Given the description of an element on the screen output the (x, y) to click on. 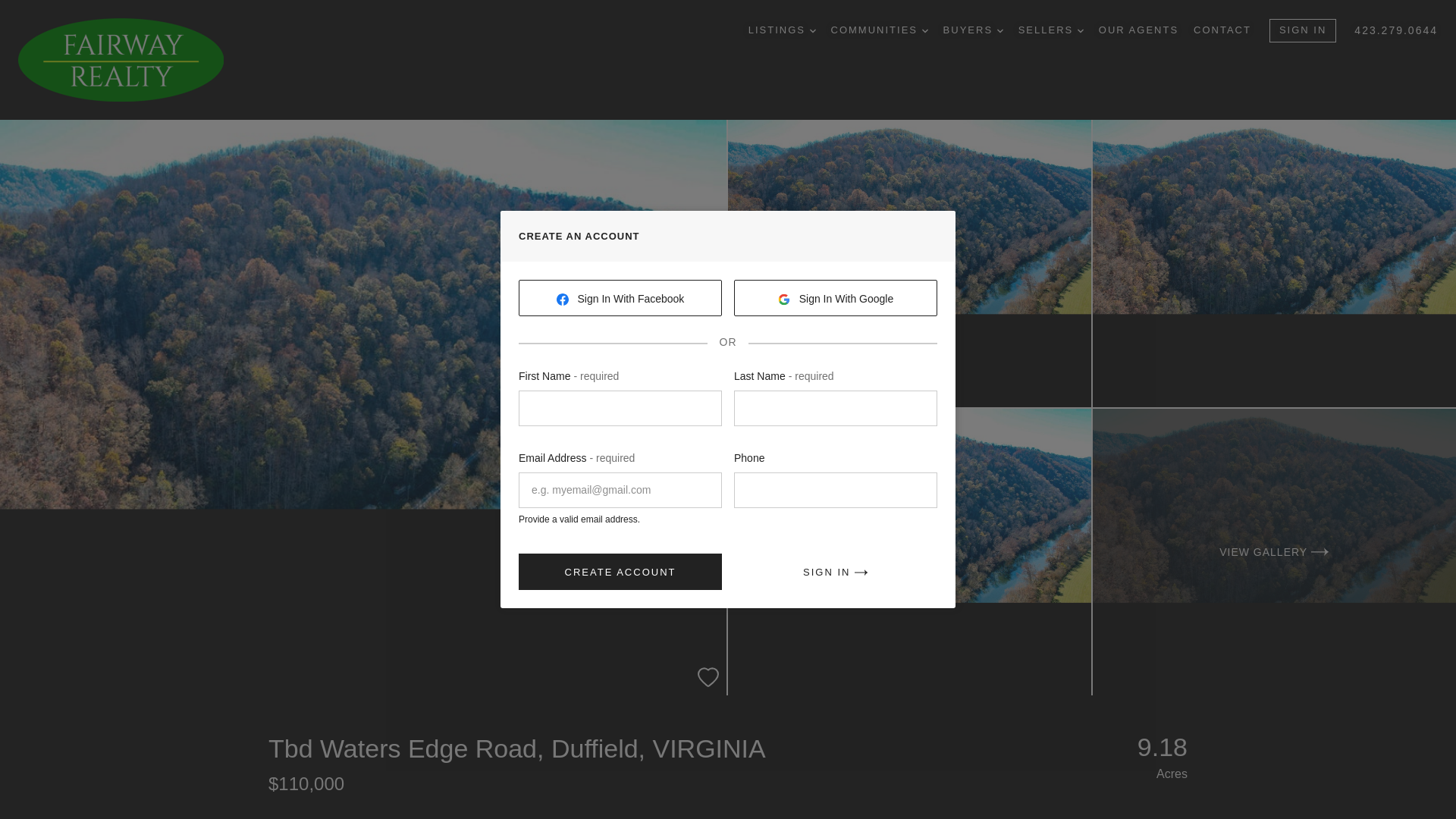
DROPDOWN ARROW (1080, 30)
DROPDOWN ARROW (1000, 30)
BUYERS DROPDOWN ARROW (973, 30)
COMMUNITIES DROPDOWN ARROW (879, 30)
423.279.0644 (1396, 29)
CONTACT (1221, 30)
SIGN IN (1302, 30)
OUR AGENTS (1138, 30)
DROPDOWN ARROW (924, 30)
LISTINGS DROPDOWN ARROW (781, 30)
DROPDOWN ARROW (812, 30)
SELLERS DROPDOWN ARROW (1050, 30)
